Given the description of an element on the screen output the (x, y) to click on. 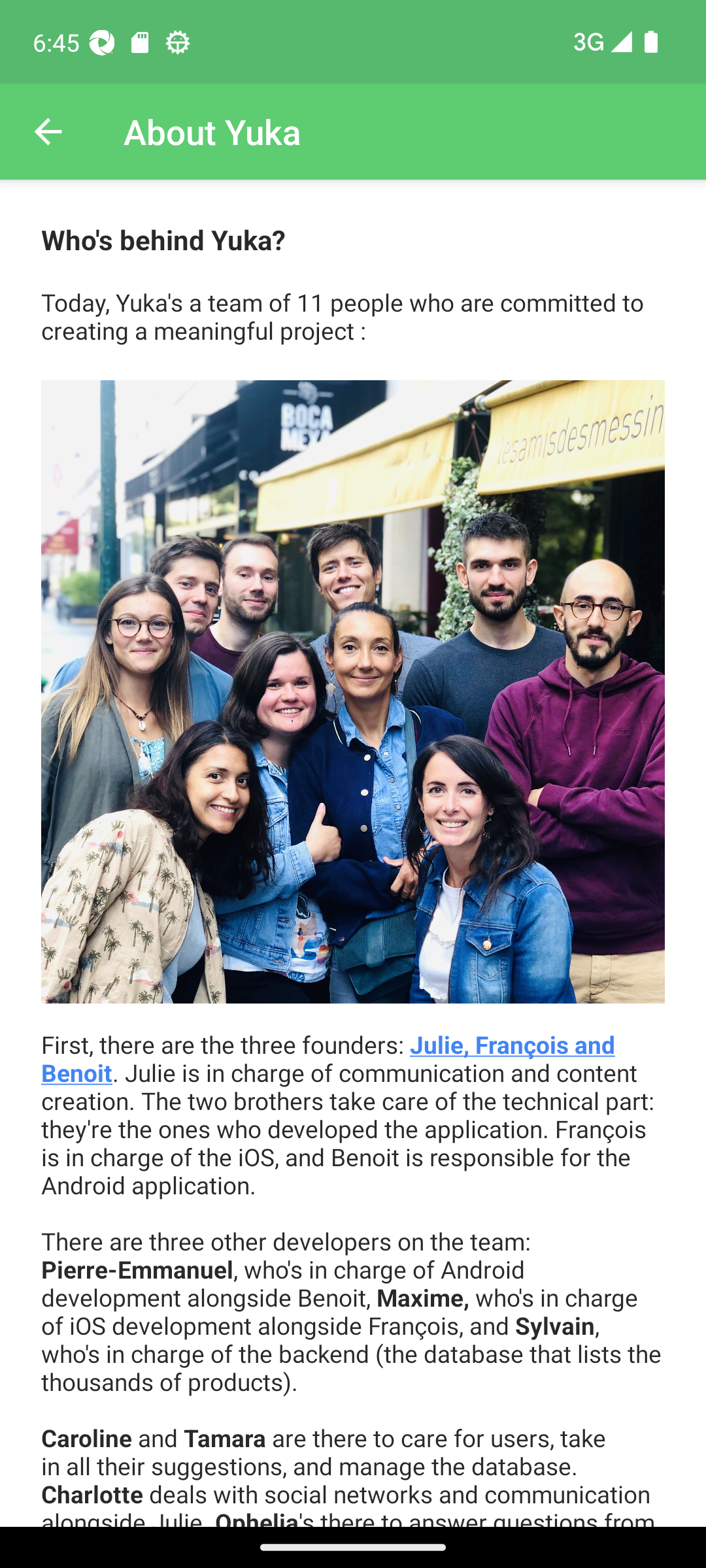
Navigate up (48, 131)
